Given the description of an element on the screen output the (x, y) to click on. 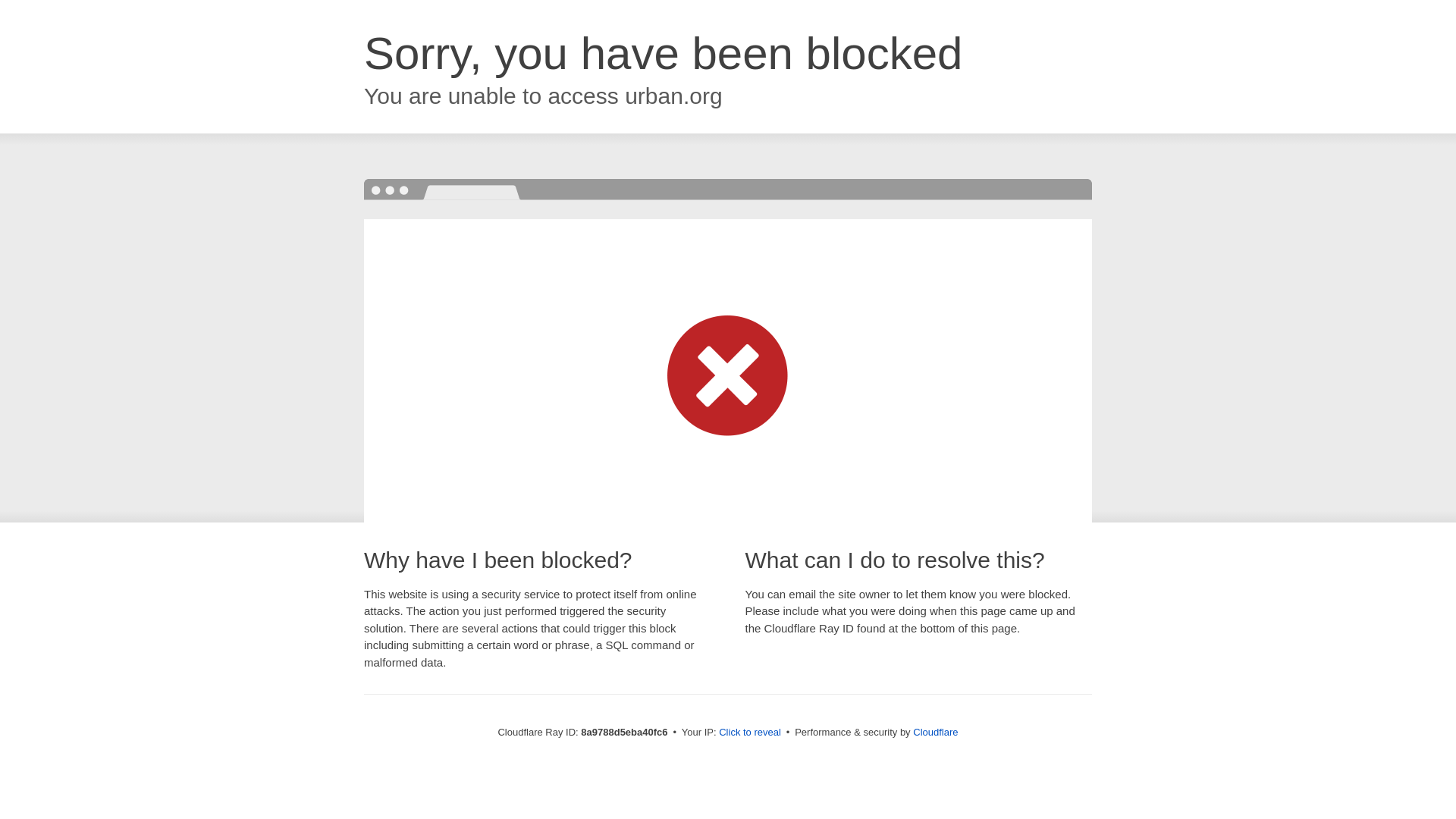
Click to reveal (749, 732)
Cloudflare (935, 731)
